Given the description of an element on the screen output the (x, y) to click on. 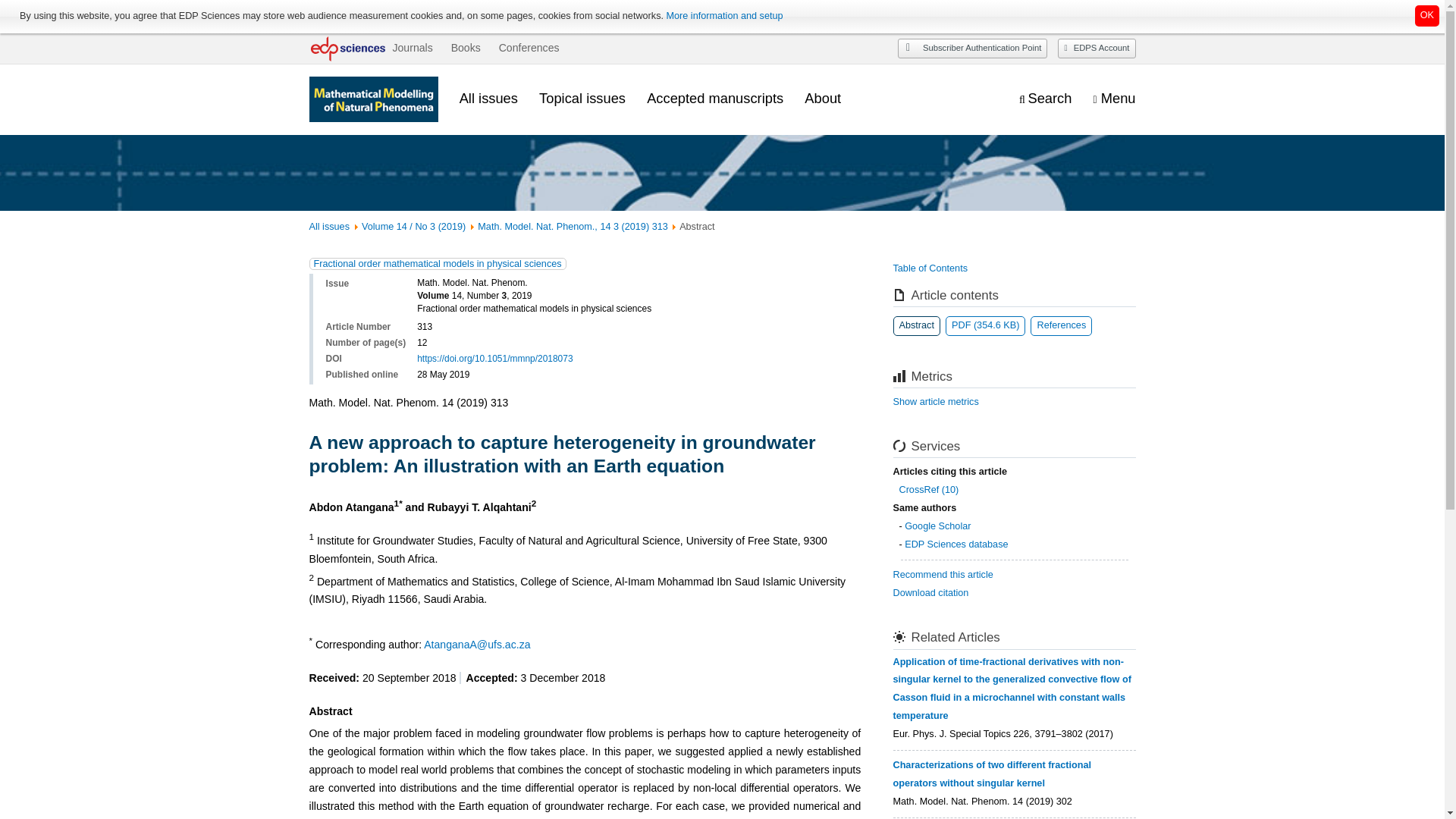
Fractional order mathematical models in physical sciences (437, 263)
Books (465, 47)
More information and setup (724, 15)
Display the search engine (1045, 98)
Abstract (916, 325)
Journal homepage (373, 99)
Click to close this notification (1427, 15)
References (1061, 325)
Journals (411, 47)
OK (1427, 15)
Conferences (529, 47)
